Given the description of an element on the screen output the (x, y) to click on. 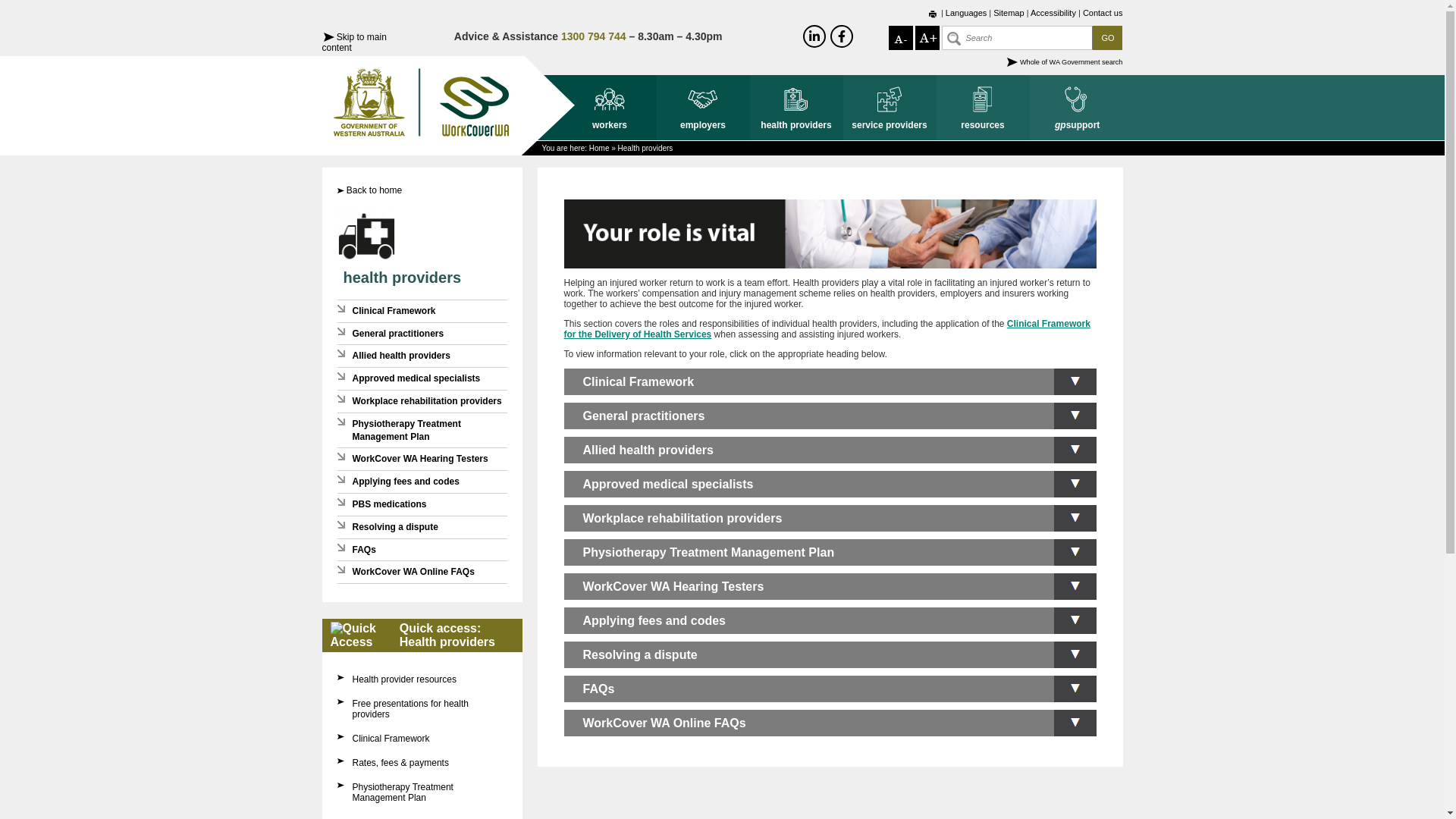
Rates, fees & payments Element type: text (399, 762)
WorkCover WA Online FAQs Element type: text (830, 722)
resources Element type: text (982, 107)
service providers Element type: text (889, 107)
FAQs Element type: text (830, 688)
Clinical Framework for the Delivery of Health Services Element type: text (827, 328)
General practitioners Element type: text (397, 333)
health providers Element type: text (795, 107)
Workplace rehabilitation providers Element type: text (830, 518)
Allied health providers Element type: text (400, 355)
Search Element type: hover (1017, 37)
General practitioners Element type: text (830, 415)
PBS medications Element type: text (388, 503)
Free presentations for health providers Element type: text (409, 708)
WorkCover WA Hearing Testers Element type: text (419, 458)
Sitemap Element type: text (1008, 12)
workers Element type: text (608, 107)
Physiotherapy Treatment Management Plan Element type: text (830, 552)
Contact us Element type: text (1102, 12)
WorkCover WA Online FAQs Element type: text (412, 571)
Health provider resources Element type: text (403, 679)
Resolving a dispute Element type: text (830, 654)
GO Element type: text (1107, 37)
Workplace rehabilitation providers Element type: text (426, 400)
Resolving a dispute Element type: text (394, 526)
Allied health providers Element type: text (830, 449)
Applying fees and codes Element type: text (830, 620)
small size Element type: hover (900, 37)
large size Element type: hover (927, 37)
 gpsupport Element type: text (1076, 107)
  Element type: text (932, 13)
employers Element type: text (702, 107)
Approved medical specialists Element type: text (830, 483)
Clinical Framework Element type: text (393, 310)
Home Element type: text (599, 148)
Back to home Element type: text (373, 190)
Approved medical specialists Element type: text (415, 378)
Clinical Framework Element type: text (830, 381)
Clinical Framework Element type: text (390, 738)
Skip to main content Element type: text (353, 42)
Physiotherapy Treatment Management Plan Element type: text (405, 430)
Applying fees and codes Element type: text (404, 481)
WorkCover WA Hearing Testers Element type: text (830, 586)
Physiotherapy Treatment Management Plan Element type: text (401, 792)
Whole of WA Government search Element type: text (1071, 61)
1300 794 744 Element type: text (593, 36)
Languages Element type: text (965, 12)
FAQs Element type: text (363, 549)
health providers Element type: text (401, 277)
Accessibility Element type: text (1053, 12)
